Given the description of an element on the screen output the (x, y) to click on. 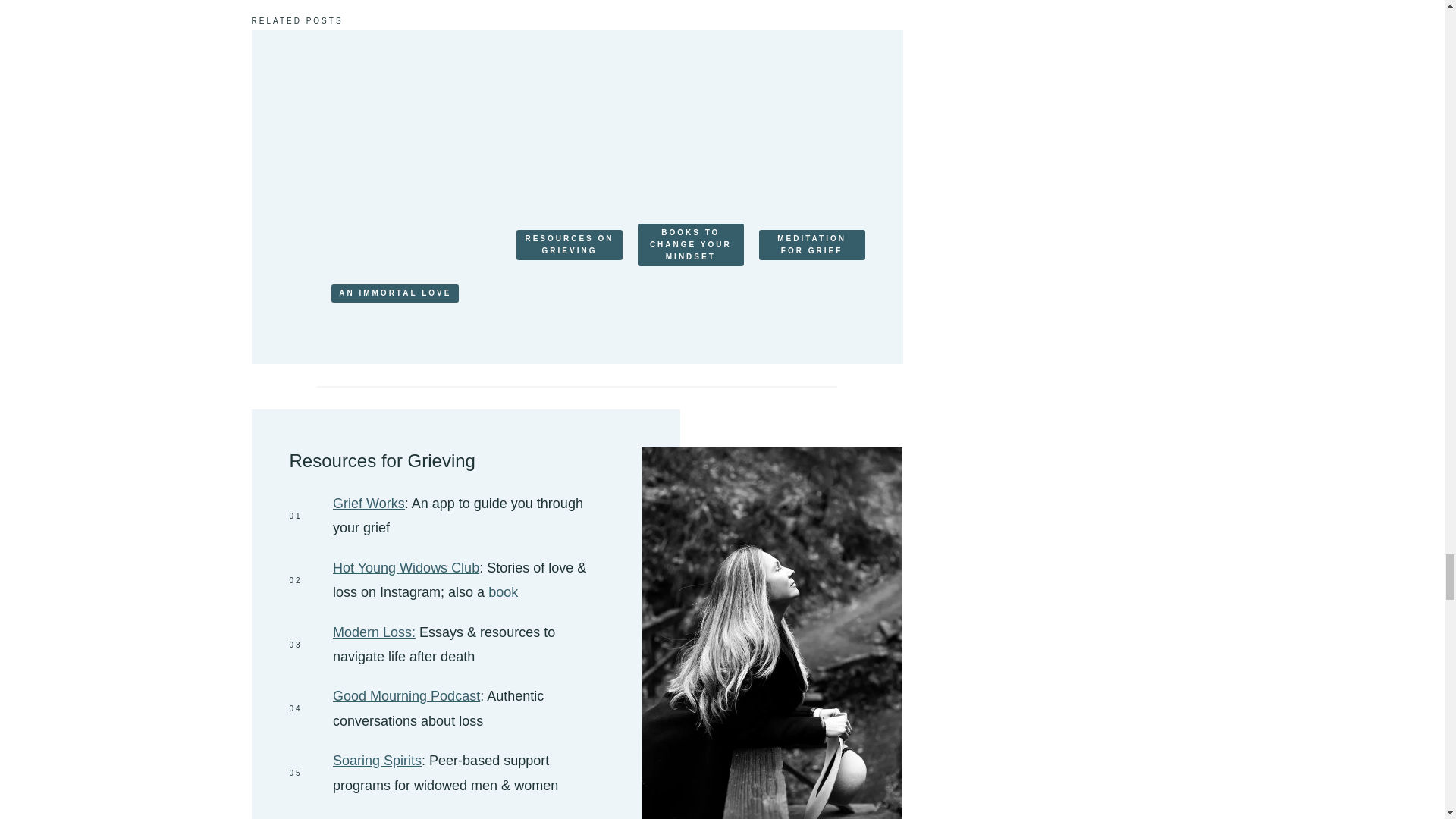
AN IMMORTAL LOVE (394, 293)
MEDITATION FOR GRIEF (811, 245)
RESOURCES ON GRIEVING (569, 245)
BOOKS TO CHANGE YOUR MINDSET (690, 244)
